Given the description of an element on the screen output the (x, y) to click on. 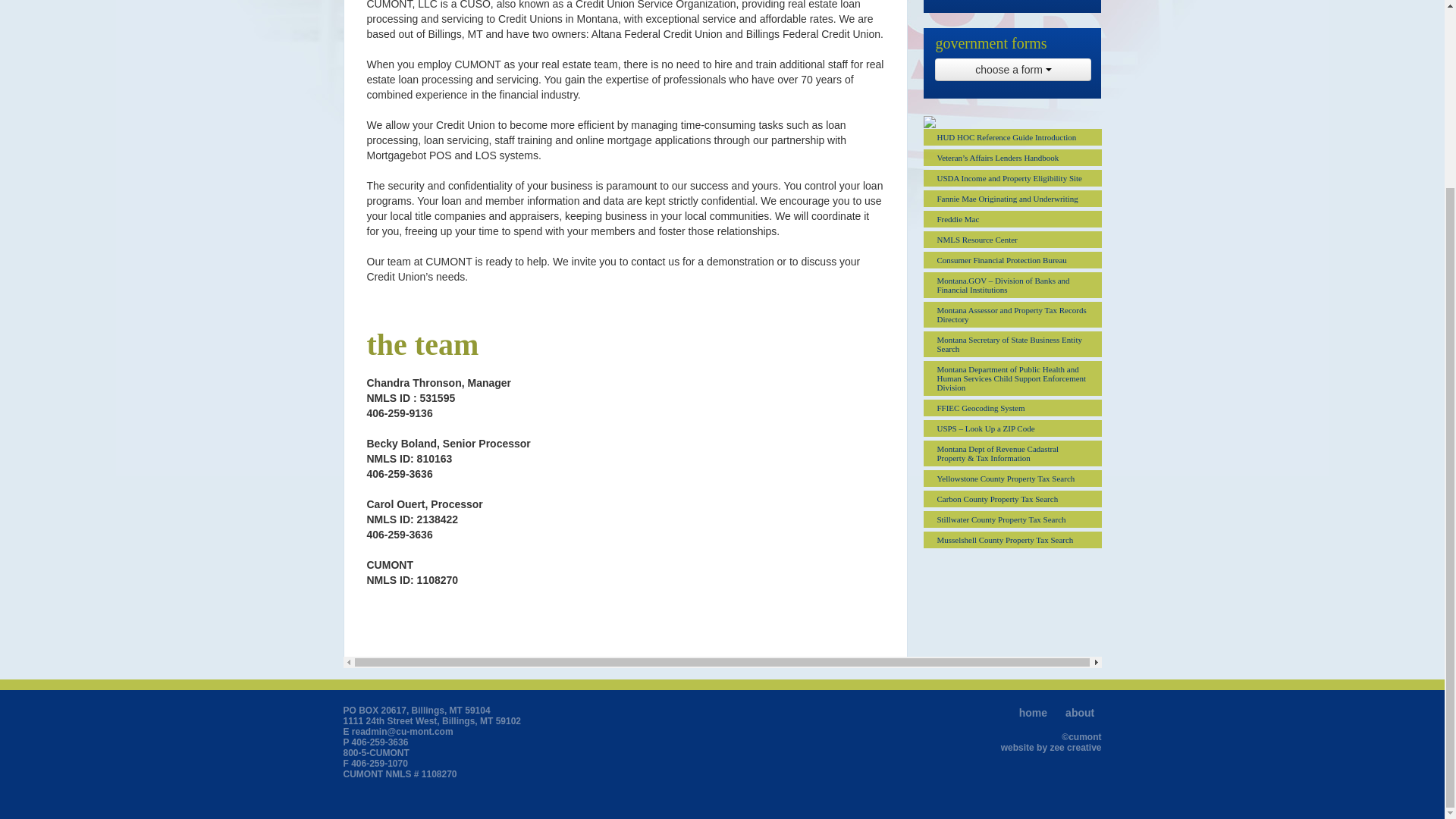
Montana Secretary of State Business Entity Search (1012, 344)
NMLS Resource Center (1012, 239)
HUD HOC Reference Guide Introduction (1012, 136)
choose a form (1012, 69)
Freddie Mac (1012, 218)
Consumer Financial Protection Bureau (1012, 259)
USDA Income and Property Eligibility Site (1012, 177)
Montana Assessor and Property Tax Records Directory (1012, 314)
Fannie Mae Originating and Underwriting (1012, 198)
